Given the description of an element on the screen output the (x, y) to click on. 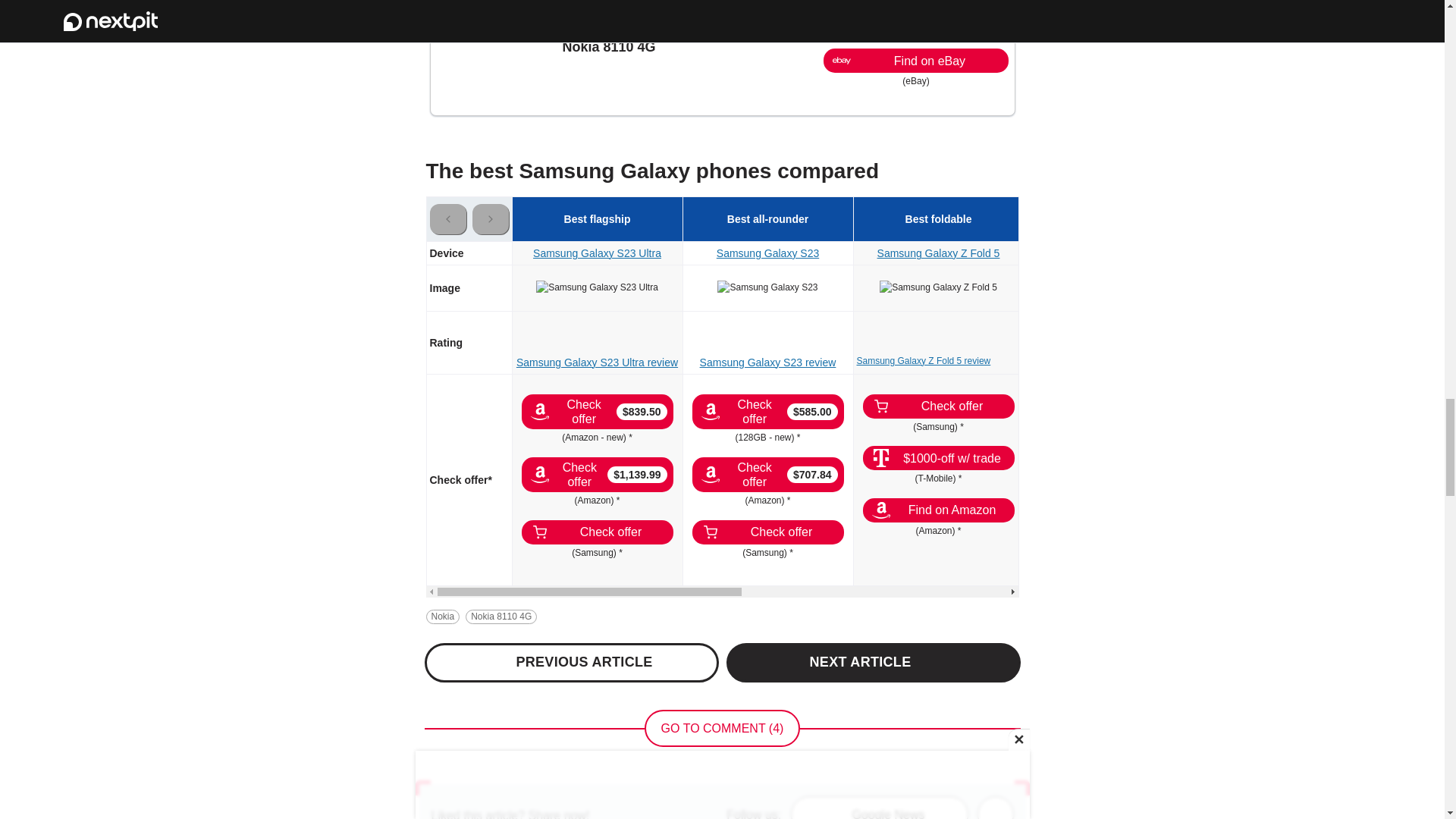
Samsung Galaxy S23 (766, 287)
Samsung Galaxy Z Fold 5 (938, 287)
Samsung Galaxy A54 (1279, 287)
Samsung Galaxy Z Flip 5 (1108, 287)
Samsung Galaxy S23 Ultra (596, 287)
